Given the description of an element on the screen output the (x, y) to click on. 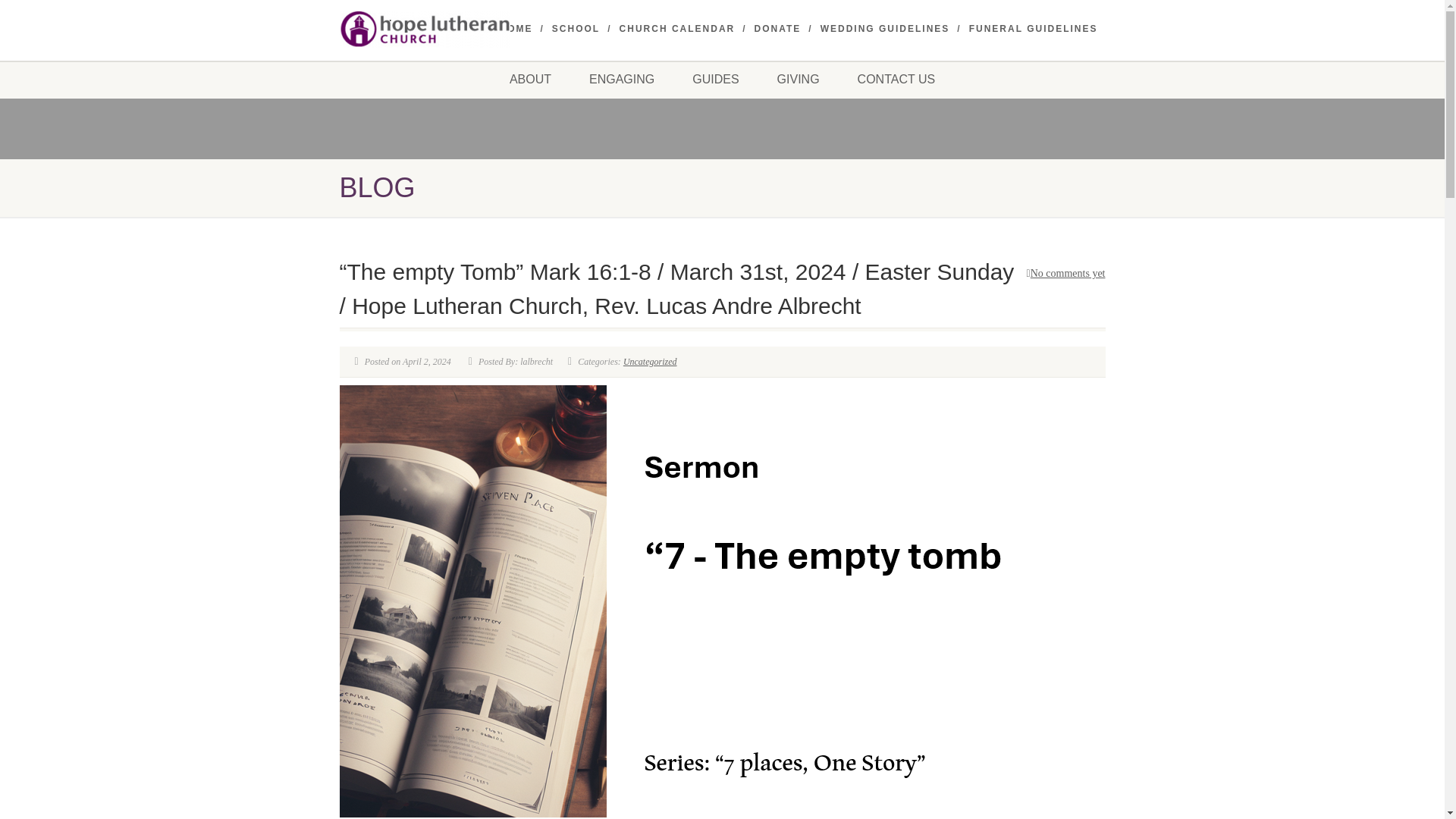
CHURCH CALENDAR (677, 29)
Logo (459, 29)
CONTACT US (896, 79)
SCHOOL (575, 29)
ENGAGING (621, 79)
HOME (515, 29)
WEDDING GUIDELINES (885, 29)
GIVING (798, 79)
Uncategorized (650, 361)
DONATE (778, 29)
No comments yet (1065, 273)
GUIDES (714, 79)
FUNERAL GUIDELINES (1033, 29)
ABOUT (530, 79)
